Given the description of an element on the screen output the (x, y) to click on. 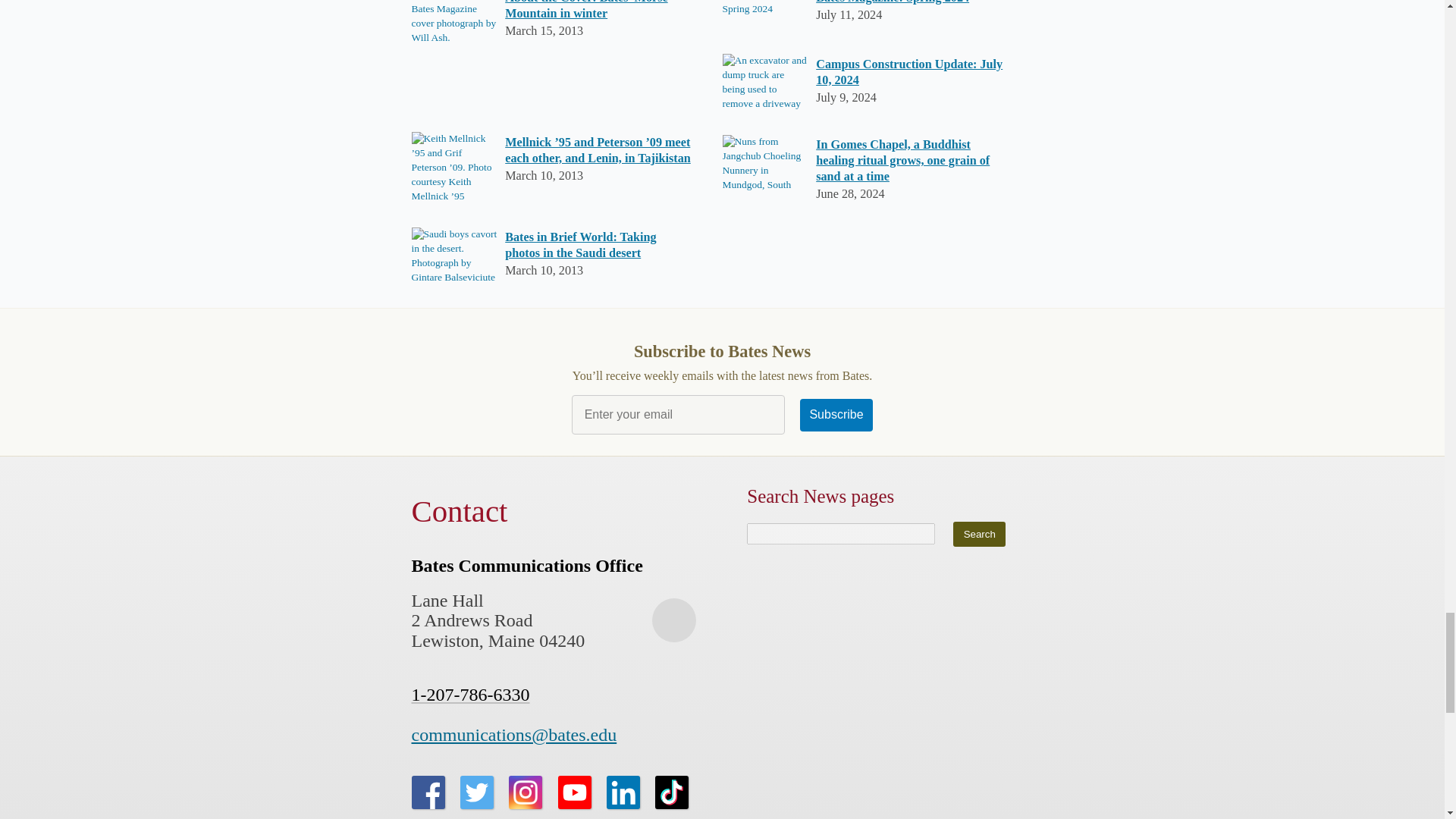
Link to Instagram (524, 792)
Subscribe (836, 415)
Link to Linkedin (623, 792)
Link to Tiktok (671, 792)
Search (979, 534)
Link to Twitter (476, 792)
Link to Youtube (574, 792)
Link to Facebook (427, 792)
